Given the description of an element on the screen output the (x, y) to click on. 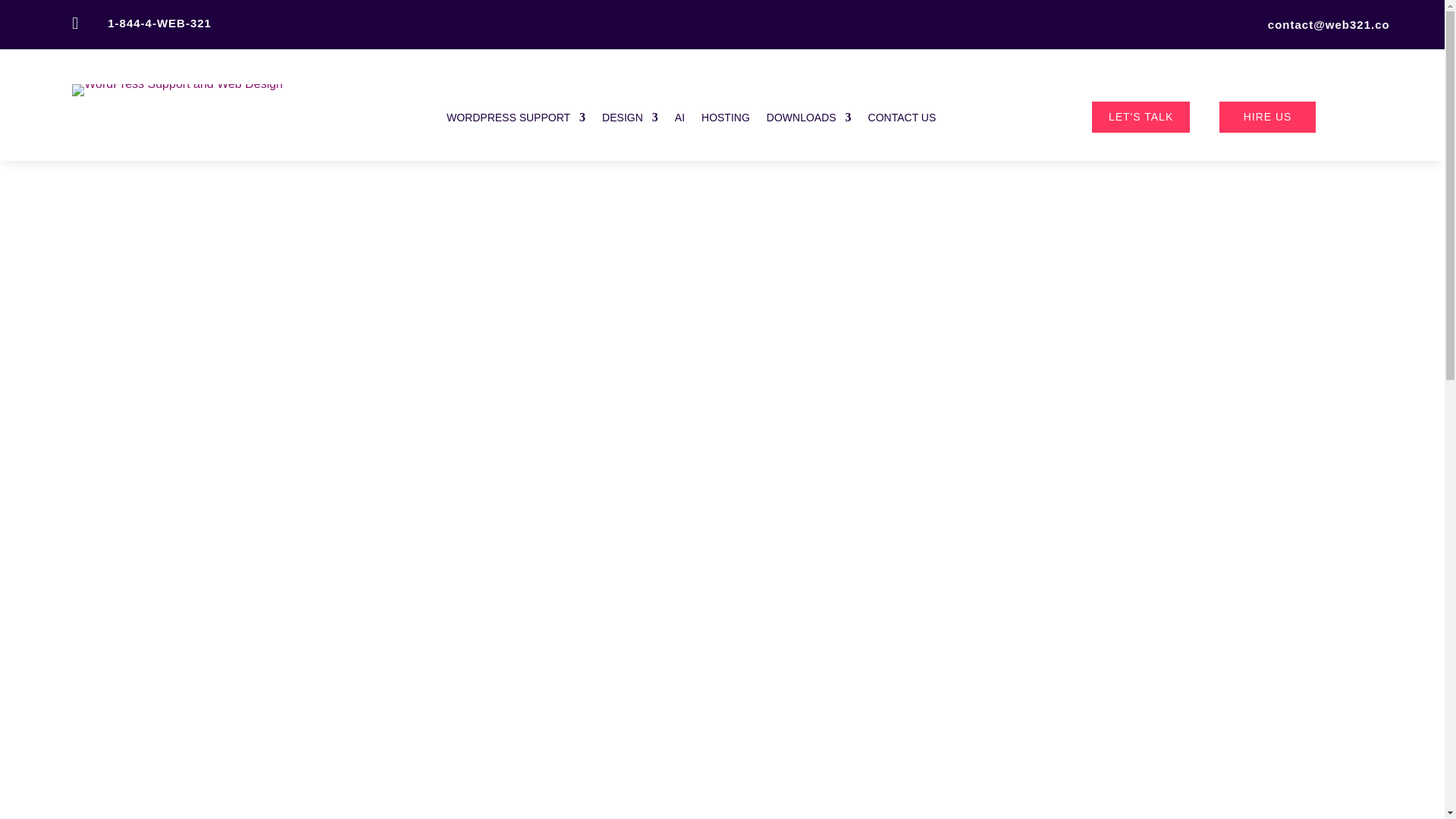
WORDPRESS SUPPORT (515, 120)
WordPress Web Design (630, 120)
HIRE US (1268, 117)
HOSTING (725, 120)
1-844-4-WEB-321 (159, 22)
CONTACT US (901, 120)
DOWNLOADS (809, 120)
LET'S TALK (1140, 117)
WordPress Website Hosting with WP A-Z (725, 120)
WordPress Support and Web Design (176, 89)
